Given the description of an element on the screen output the (x, y) to click on. 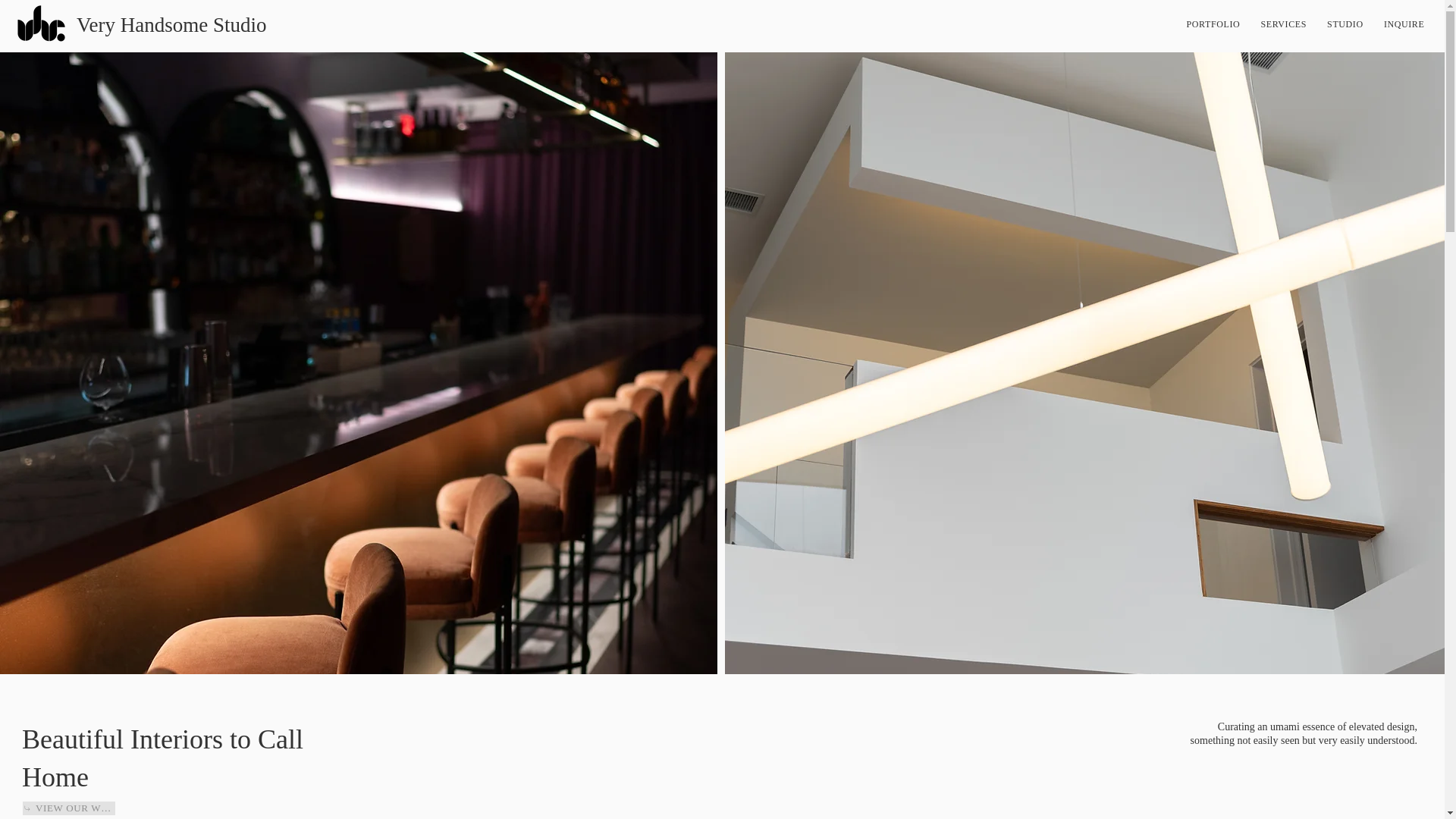
PORTFOLIO (1213, 24)
VIEW OUR WORK (69, 807)
SERVICES (1283, 24)
STUDIO (1345, 24)
INQUIRE (1305, 24)
Very Handsome Studio (1403, 24)
